Given the description of an element on the screen output the (x, y) to click on. 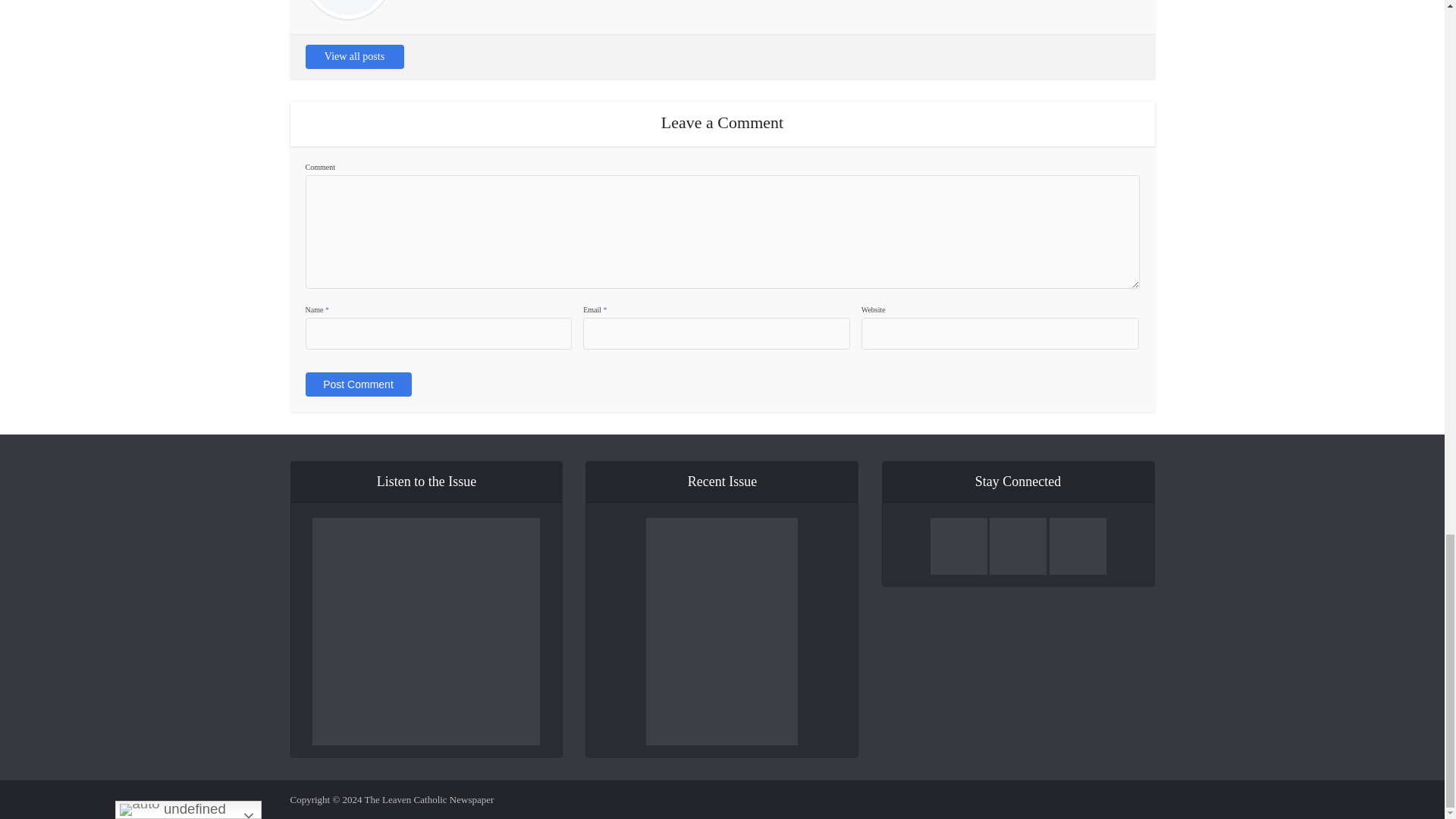
Post Comment (357, 384)
